Given the description of an element on the screen output the (x, y) to click on. 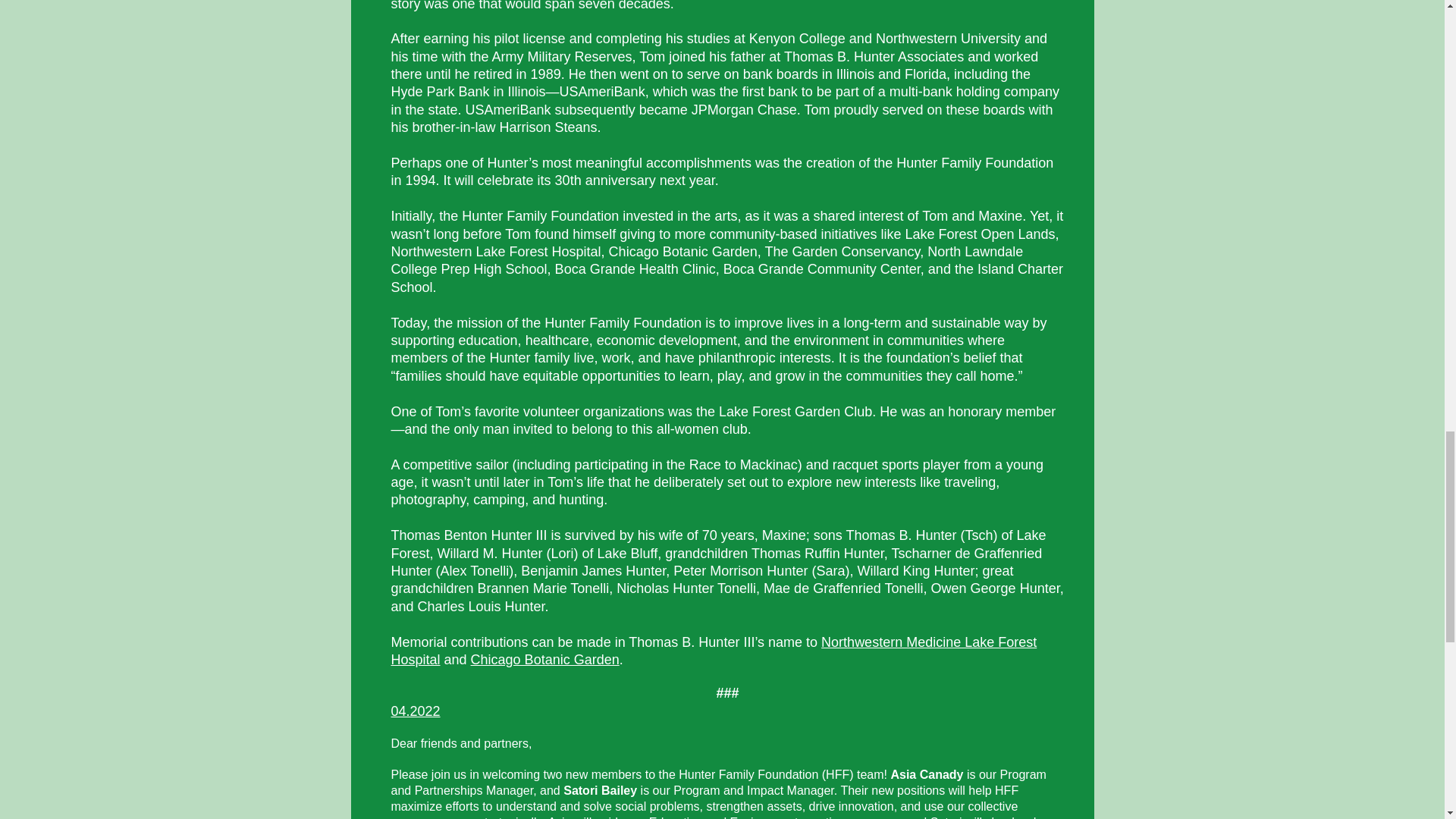
Northwestern Medicine Lake Forest Hospital (713, 650)
Chicago Botanic Garden (545, 659)
